Given the description of an element on the screen output the (x, y) to click on. 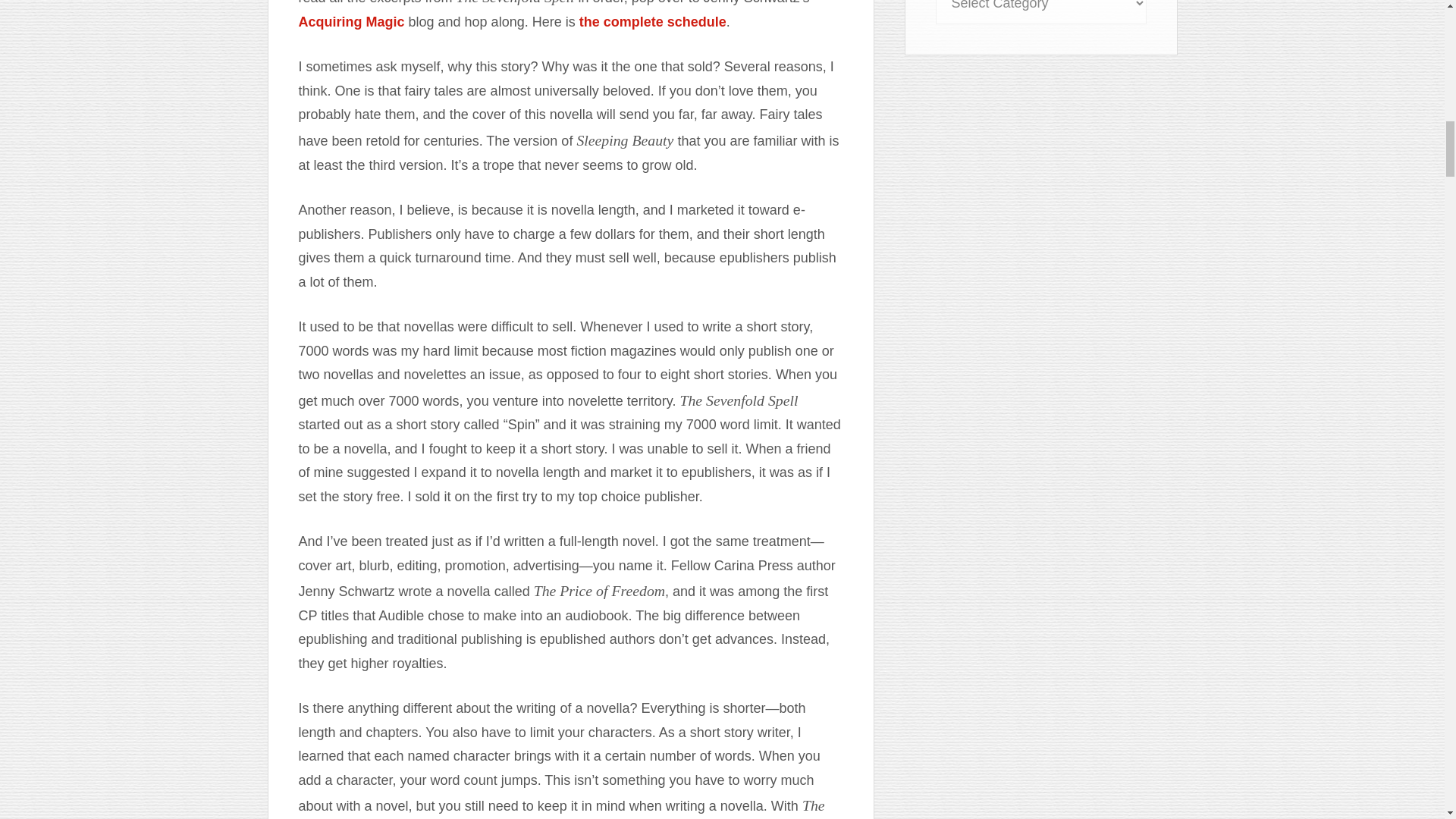
Acquiring Magic (351, 21)
the complete schedule (652, 21)
